Given the description of an element on the screen output the (x, y) to click on. 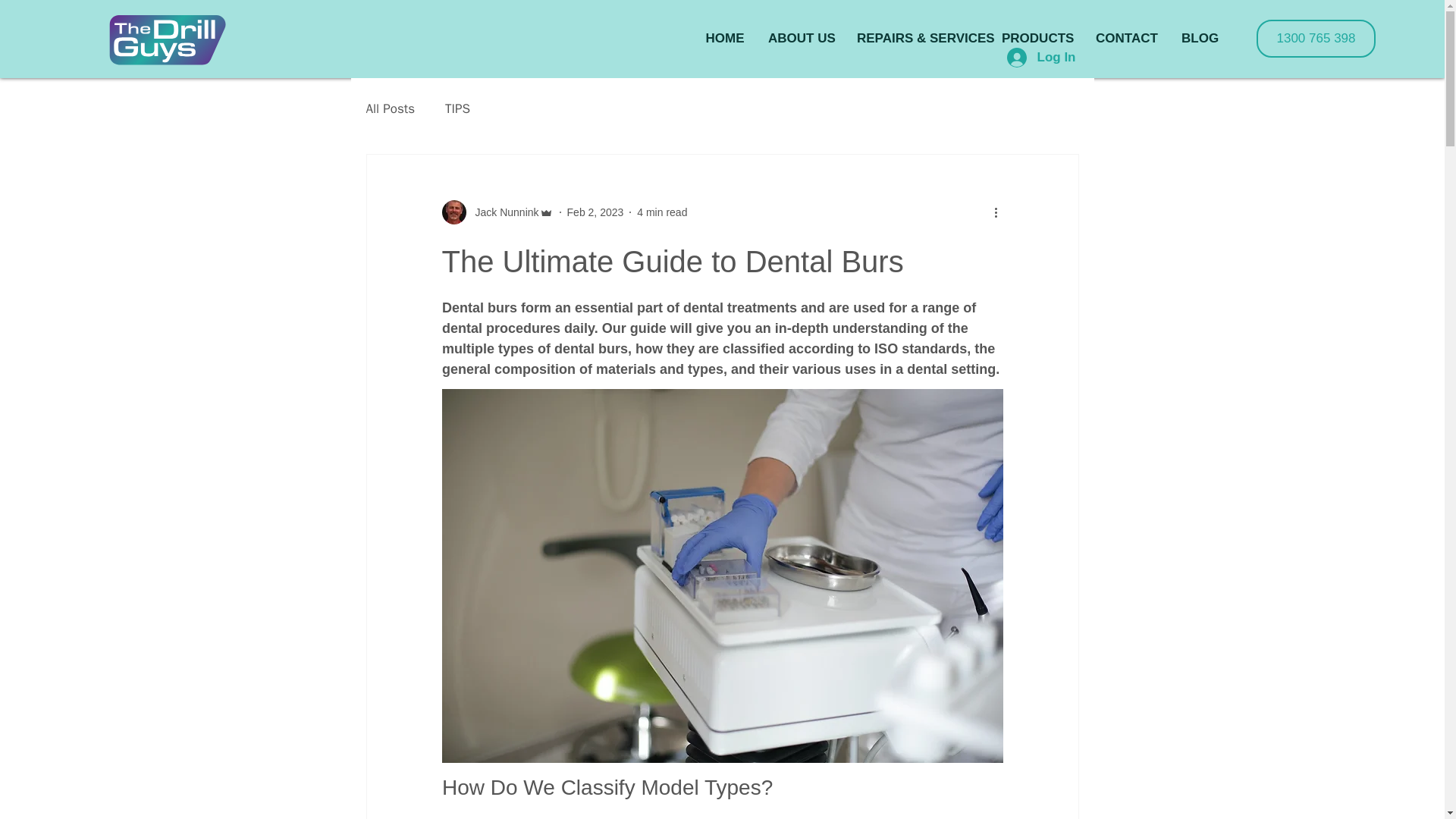
PRODUCTS (1036, 38)
HOME (725, 38)
BLOG (1200, 38)
1300 765 398 (1315, 38)
Jack Nunnink (497, 211)
TIPS (457, 108)
4 min read (662, 212)
ABOUT US (801, 38)
CONTACT (1126, 38)
Jack Nunnink (501, 212)
